Given the description of an element on the screen output the (x, y) to click on. 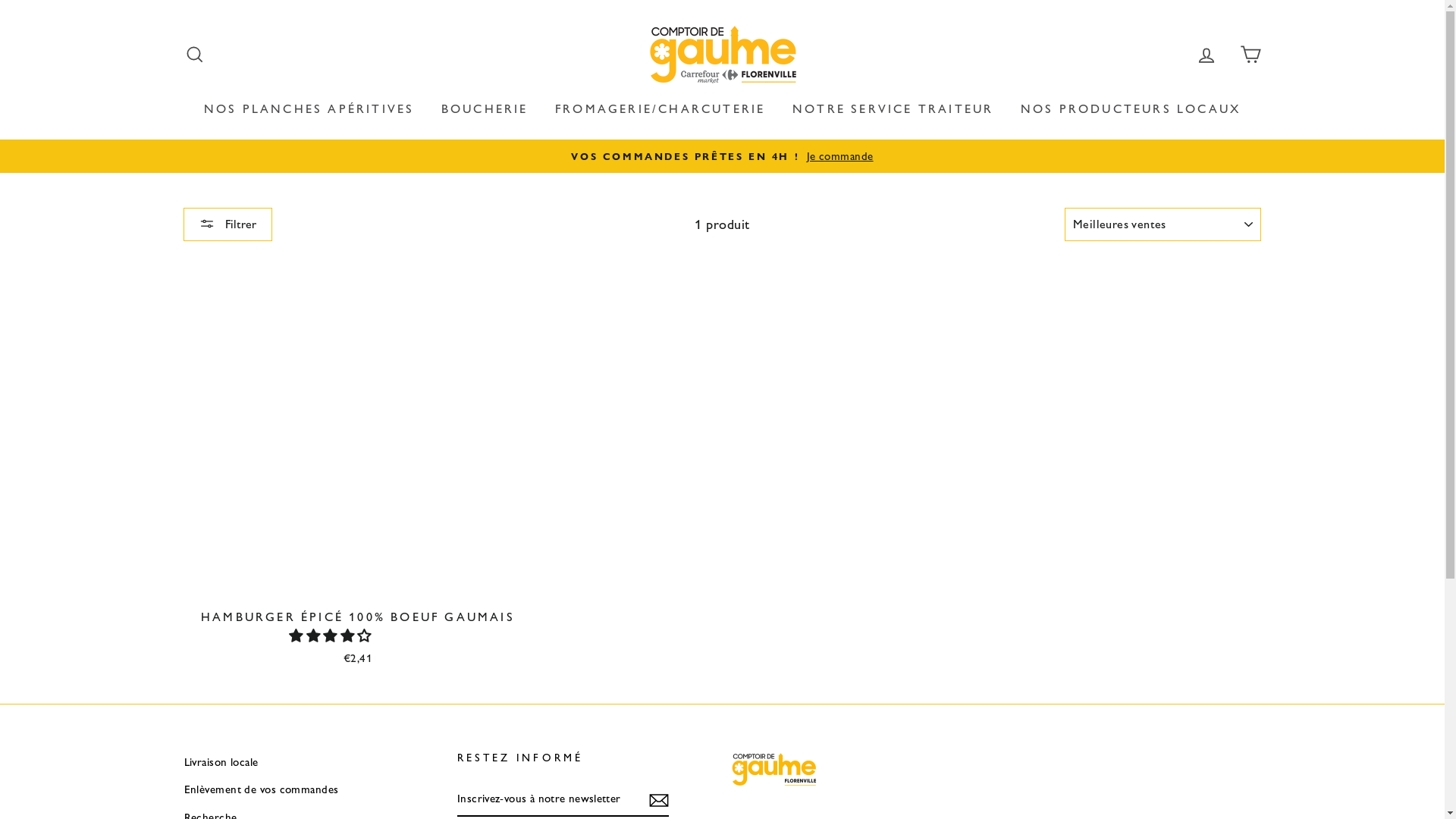
Filtrer Element type: text (227, 224)
NOS PRODUCTEURS LOCAUX Element type: text (1130, 108)
Livraison locale Element type: text (220, 761)
SE CONNECTER Element type: text (1206, 53)
NOTRE SERVICE TRAITEUR Element type: text (892, 108)
RECHERCHER Element type: text (193, 53)
BOUCHERIE Element type: text (484, 108)
VOTRE PANIER Element type: text (1249, 53)
FROMAGERIE/CHARCUTERIE Element type: text (659, 108)
Passer au contenu Element type: text (0, 0)
